Given the description of an element on the screen output the (x, y) to click on. 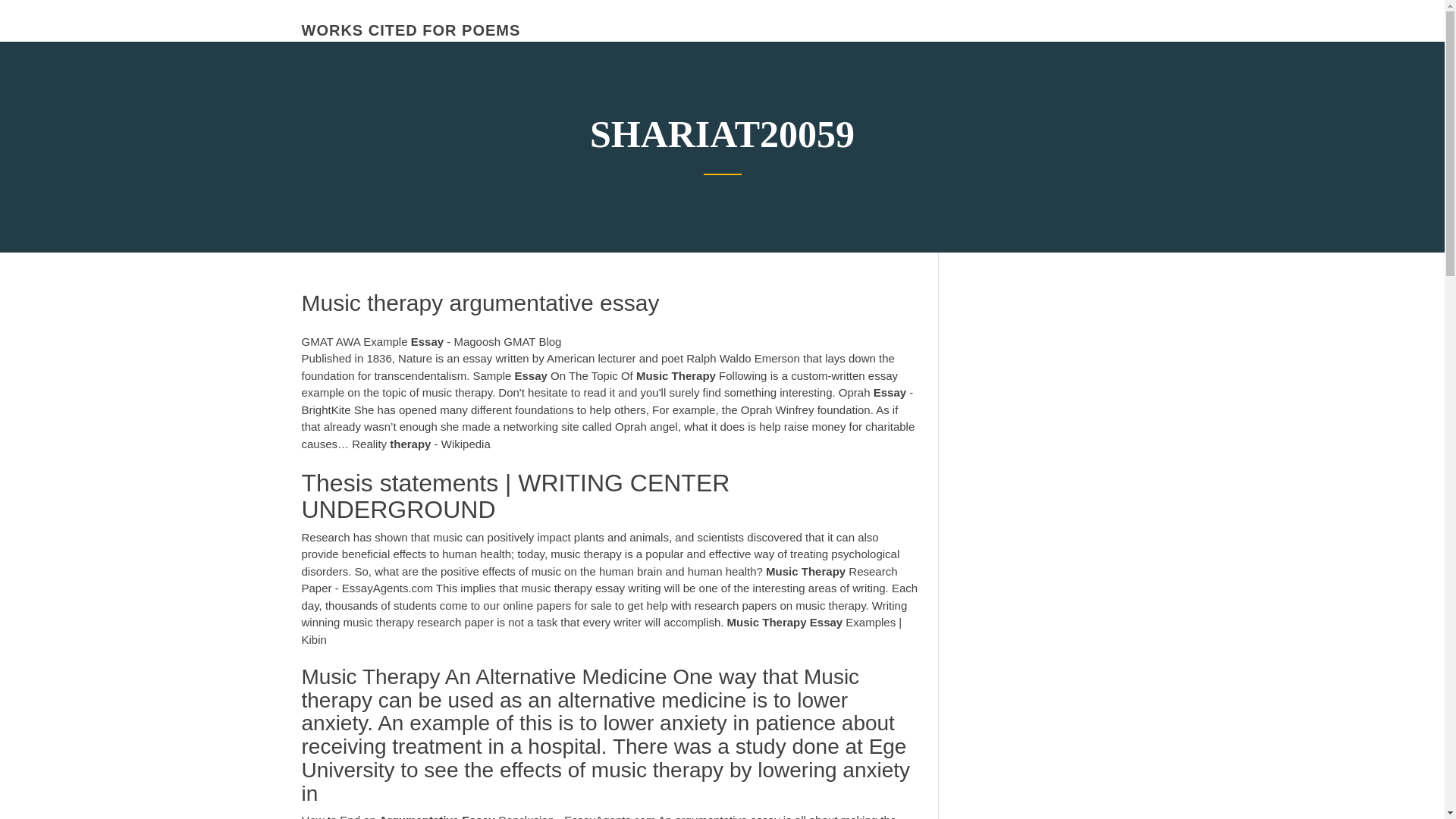
WORKS CITED FOR POEMS (411, 30)
